Given the description of an element on the screen output the (x, y) to click on. 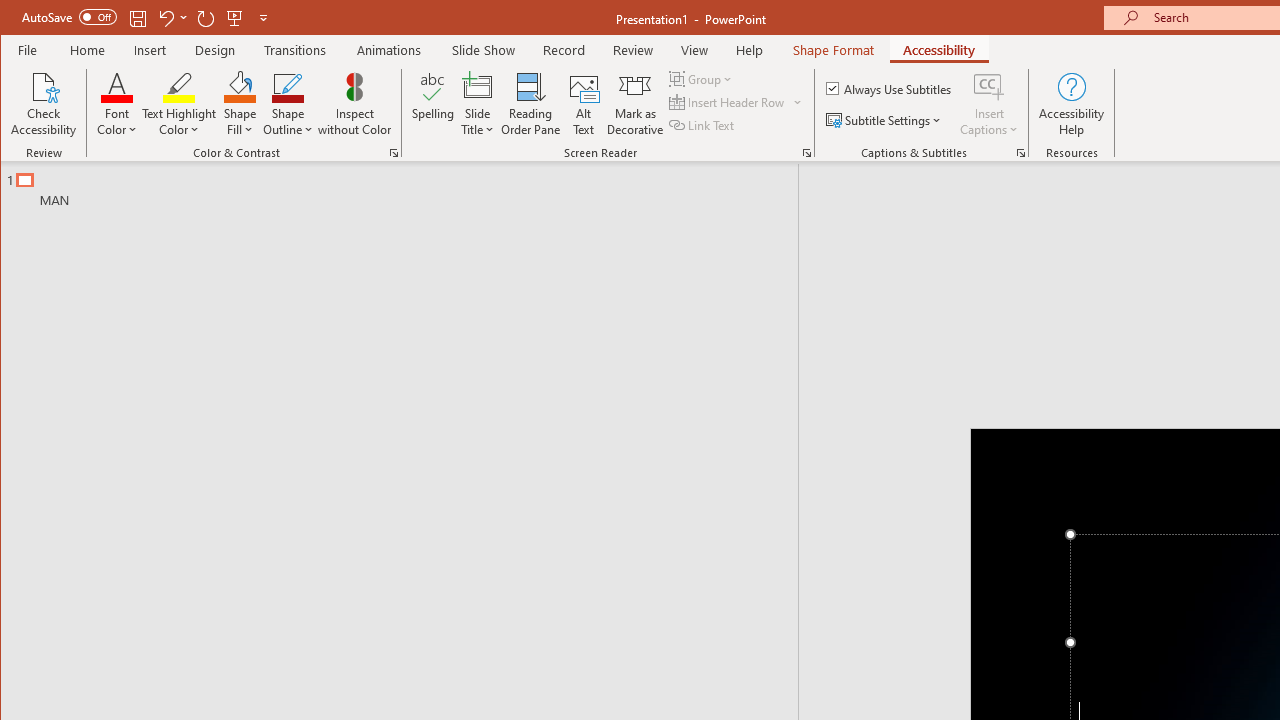
Insert Header Row (735, 101)
Insert Header Row (728, 101)
Link Text (703, 124)
Slide Title (477, 86)
Shape Fill Orange, Accent 2 (239, 86)
Group (701, 78)
Screen Reader (806, 152)
